Given the description of an element on the screen output the (x, y) to click on. 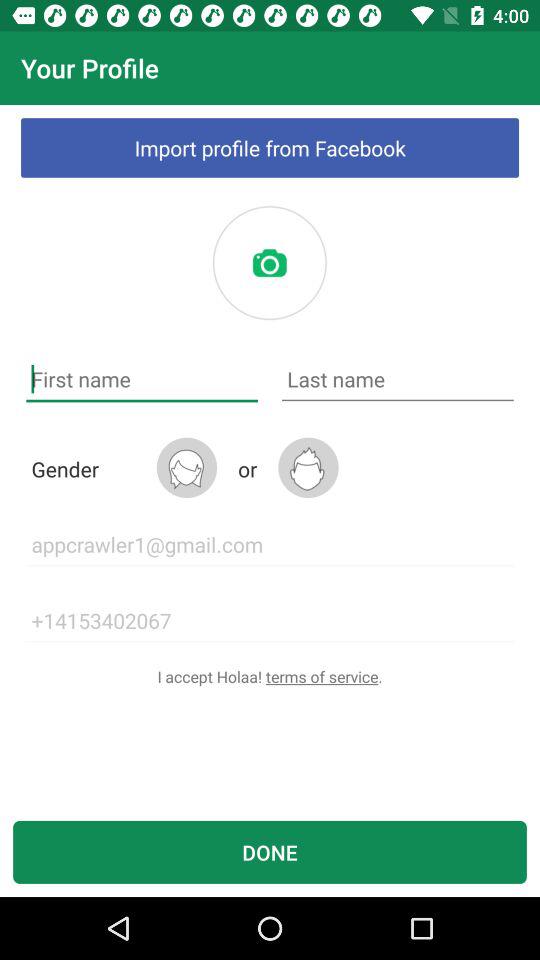
launch the icon below the i accept holaa (269, 851)
